Given the description of an element on the screen output the (x, y) to click on. 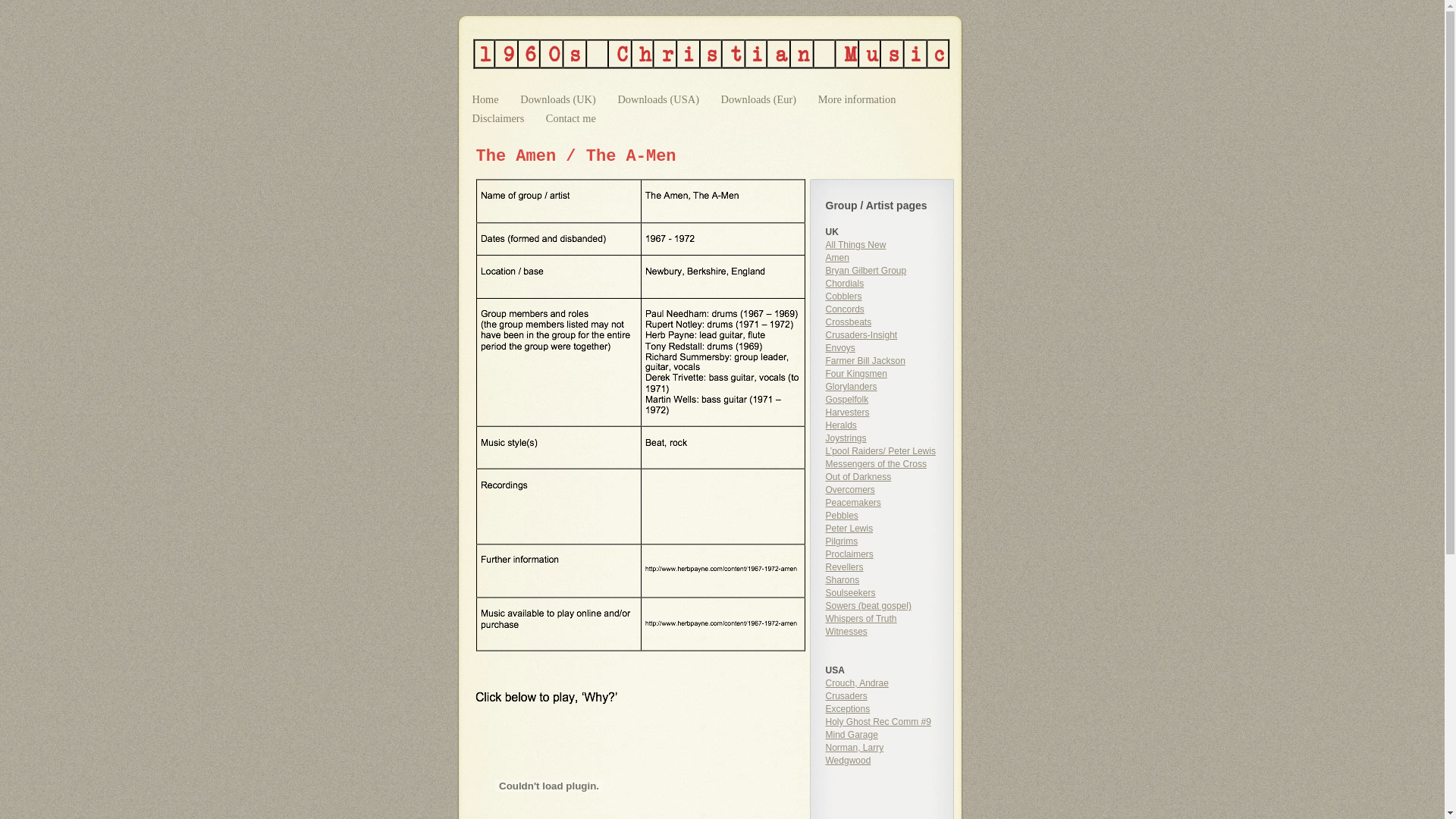
Chordials Element type: text (844, 283)
Norman, Larry Element type: text (854, 747)
Crusaders Element type: text (845, 695)
Whispers of Truth Element type: text (860, 618)
Overcomers Element type: text (849, 489)
Amen Element type: text (836, 257)
Peacemakers Element type: text (852, 502)
Holy Ghost Rec Comm #9 Element type: text (877, 721)
Downloads (Eur) Element type: text (760, 99)
Wedgwood Element type: text (847, 760)
Sowers (beat gospel) Element type: text (867, 605)
Crouch, Andrae Element type: text (856, 682)
Out of Darkness Element type: text (858, 476)
Messengers of the Cross Element type: text (875, 463)
Four Kingsmen Element type: text (855, 373)
Revellers Element type: text (843, 566)
Witnesses Element type: text (845, 631)
Exceptions Element type: text (847, 708)
All Things New Element type: text (855, 244)
Crusaders-Insight Element type: text (861, 334)
Proclaimers Element type: text (848, 554)
Contact me Element type: text (571, 118)
Joystrings Element type: text (845, 438)
More information Element type: text (857, 99)
Pebbles Element type: text (841, 515)
Disclaimers Element type: text (498, 118)
Envoys Element type: text (839, 347)
http://www.herbpayne.com/content/1967-1972-amen Element type: hover (728, 629)
Soulseekers Element type: text (850, 592)
Cobblers Element type: text (843, 296)
Glorylanders Element type: text (850, 386)
Mind Garage Element type: text (851, 734)
Farmer Bill Jackson Element type: text (864, 360)
Gospelfolk Element type: text (846, 399)
Home Element type: text (486, 99)
Peter Lewis Element type: text (848, 528)
Bryan Gilbert Group Element type: text (865, 270)
Downloads (USA) Element type: text (659, 99)
Crossbeats Element type: text (848, 321)
Concords Element type: text (844, 309)
http://www.herbpayne.com/content/1967-1972-amen Element type: hover (728, 574)
Downloads (UK) Element type: text (559, 99)
Sharons Element type: text (842, 579)
Heralds Element type: text (840, 425)
Harvesters Element type: text (847, 412)
Pilgrims Element type: text (841, 541)
